Given the description of an element on the screen output the (x, y) to click on. 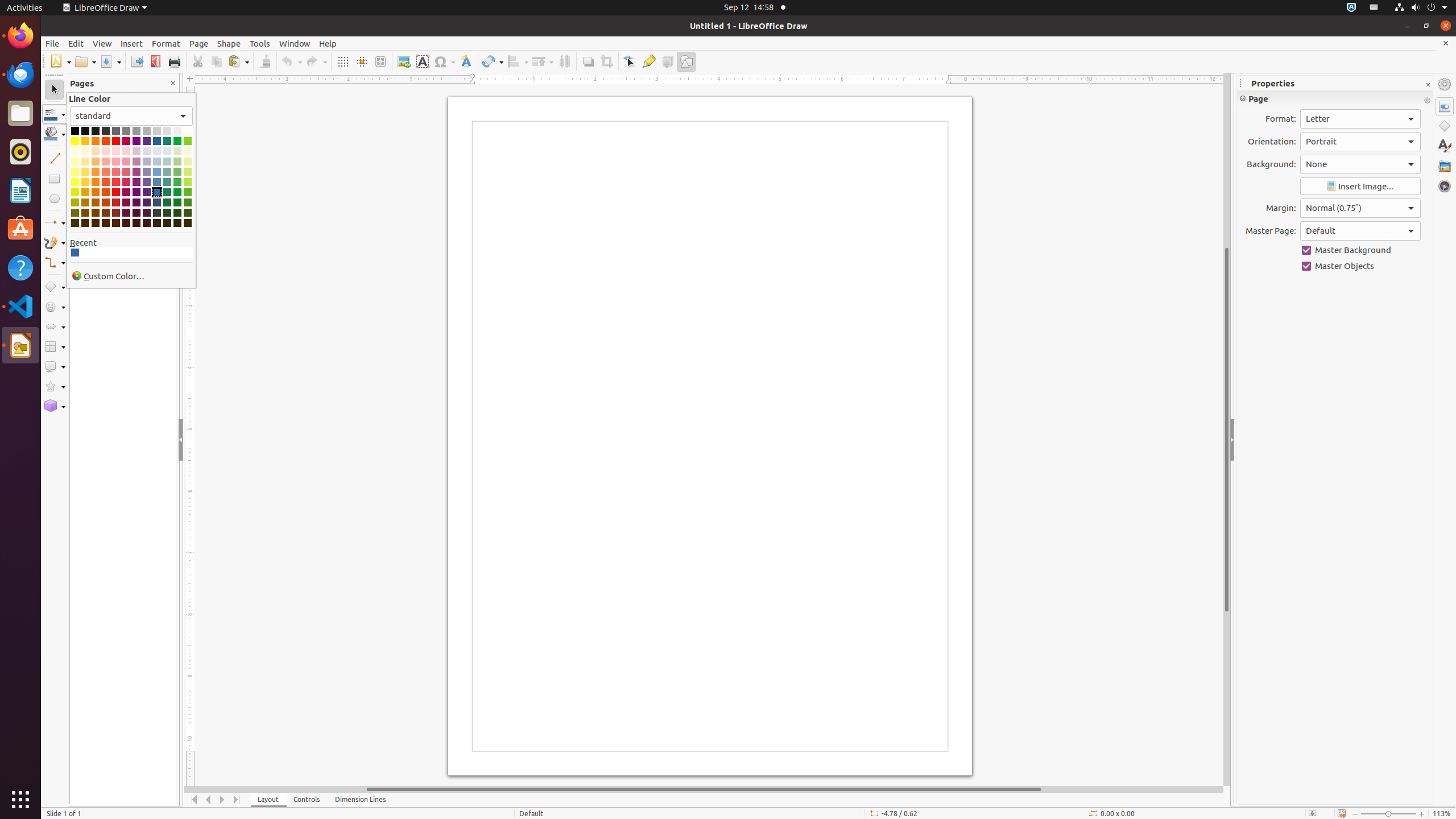
Controls Element type: page-tab (307, 799)
Dark Indigo 1 Element type: list-item (146, 192)
Teal Element type: list-item (167, 140)
Dark Red 1 Element type: list-item (115, 192)
Dark Blue 3 Element type: list-item (156, 212)
